Given the description of an element on the screen output the (x, y) to click on. 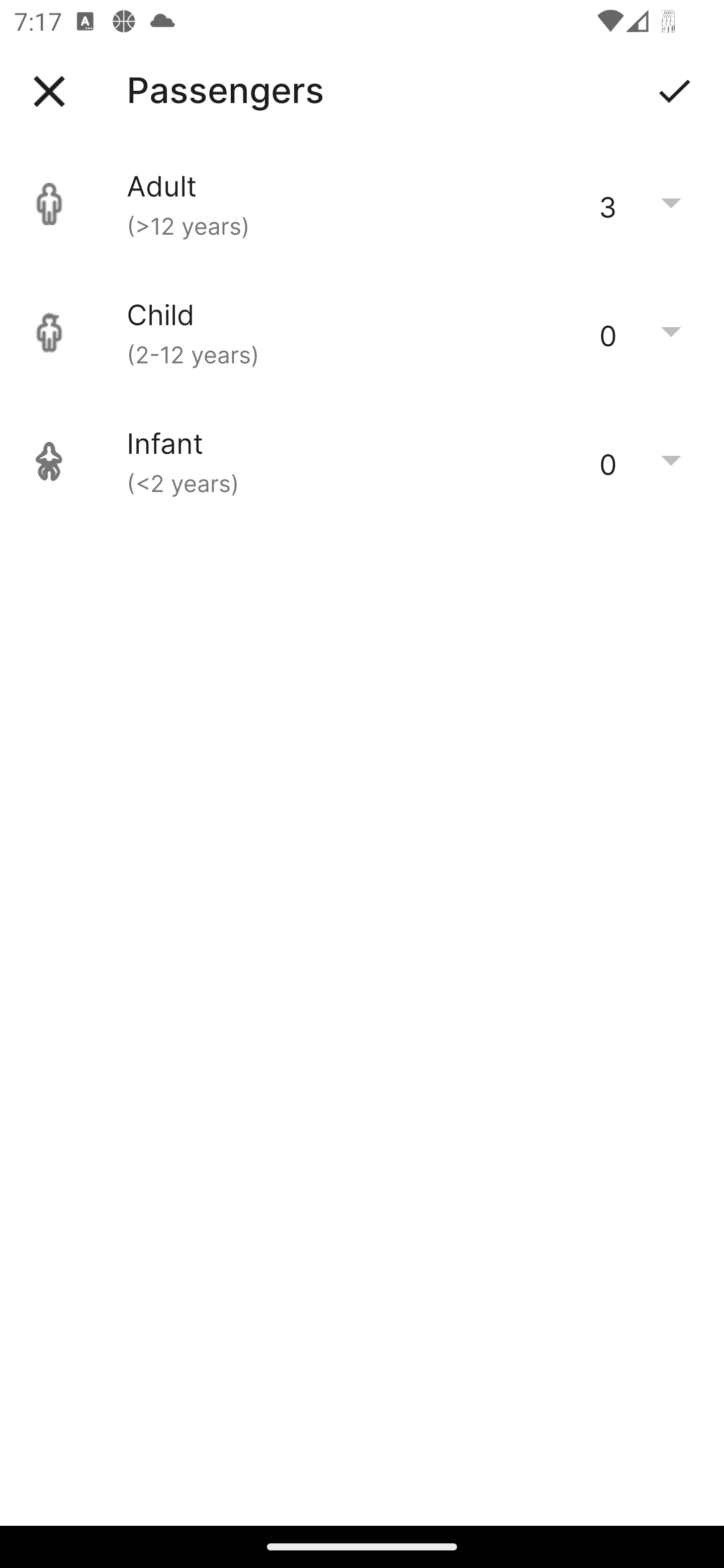
Adult (>12 years) 3 (362, 204)
Child (2-12 years) 0 (362, 332)
Infant (<2 years) 0 (362, 461)
